Given the description of an element on the screen output the (x, y) to click on. 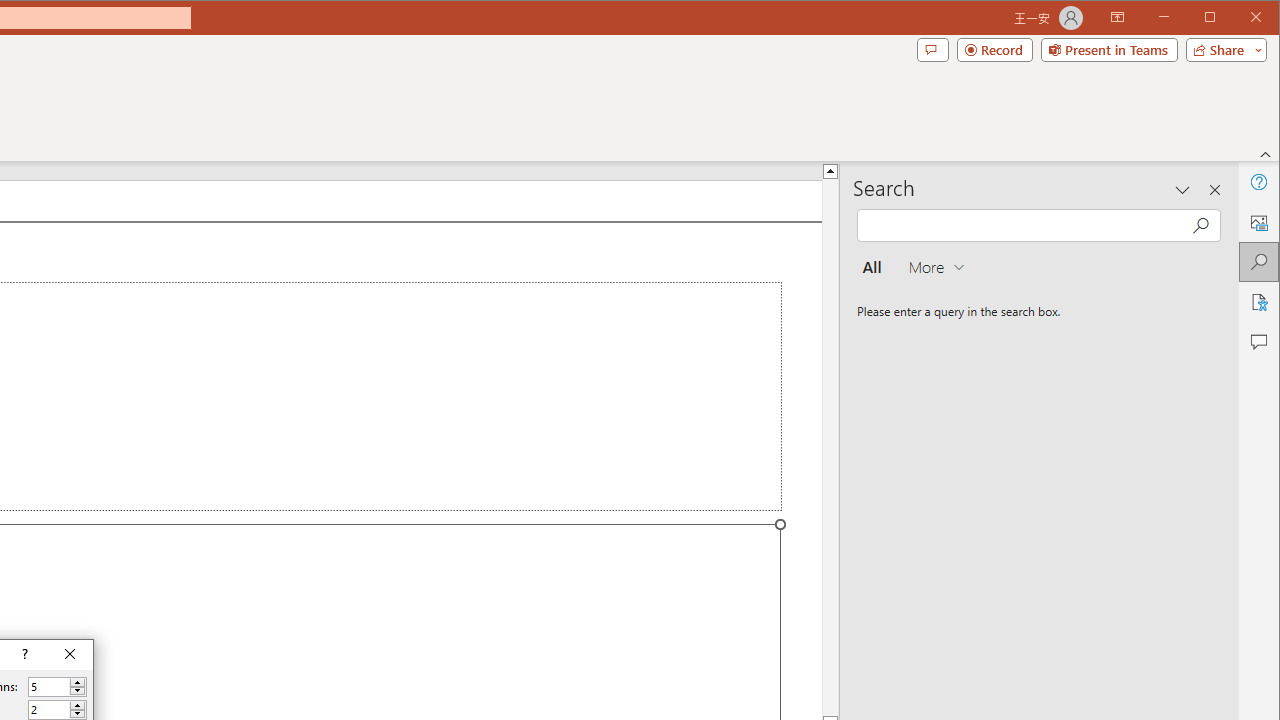
Number of rows (49, 710)
Context help (23, 655)
Number of columns (49, 687)
Less (77, 714)
